Given the description of an element on the screen output the (x, y) to click on. 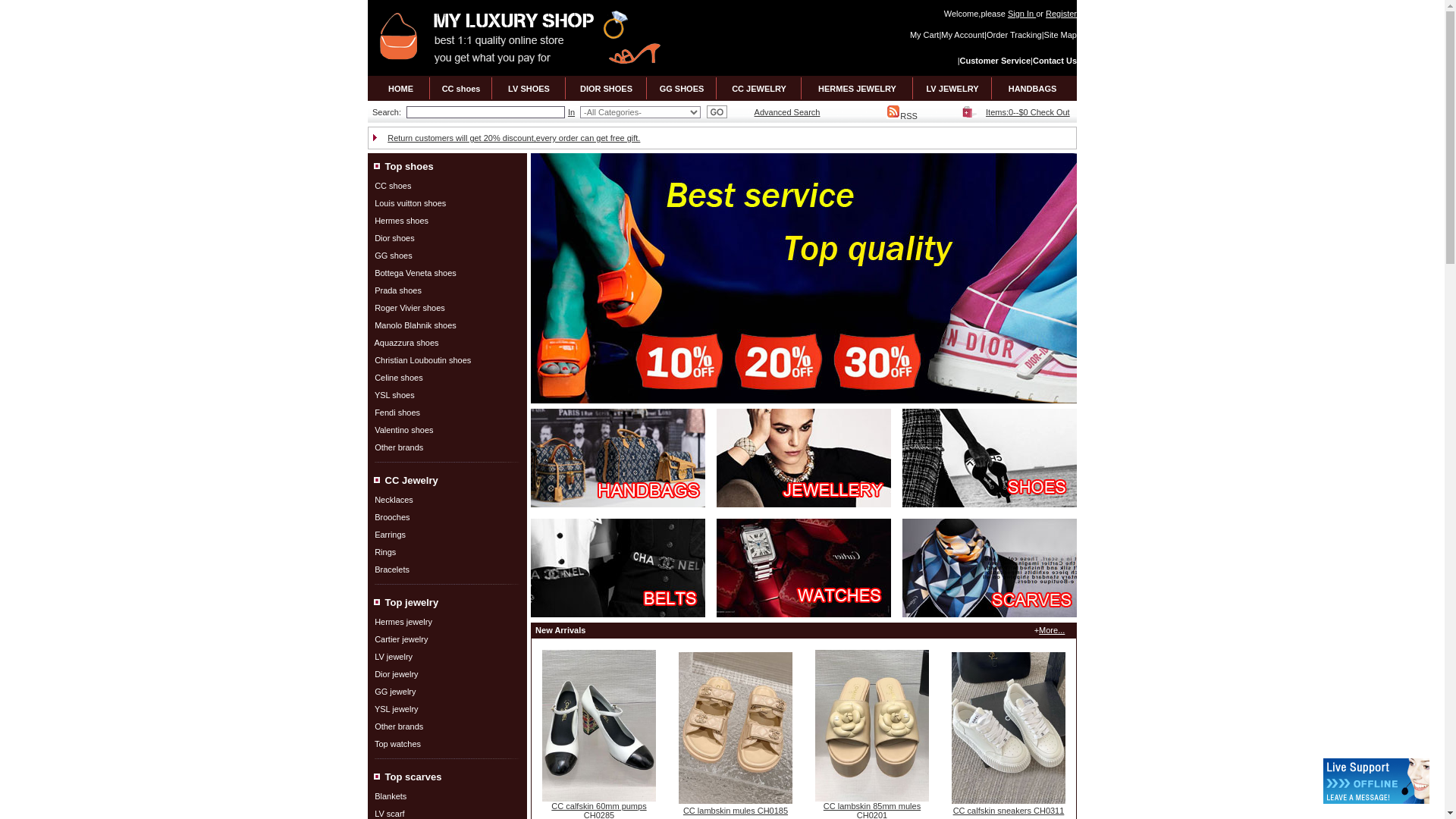
My Cart (924, 34)
GG SHOES (681, 87)
Site Map (1060, 34)
YSL shoes (394, 393)
DIOR SHOES (605, 87)
Order Tracking (1014, 34)
HOME (400, 87)
Live chat offline (1376, 780)
HANDBAGS (1033, 87)
Contact Us (1054, 60)
Fendi shoes (397, 411)
Hermes shoes (401, 219)
Prada shoes (398, 289)
RSS (901, 114)
CC shoes (461, 87)
